Given the description of an element on the screen output the (x, y) to click on. 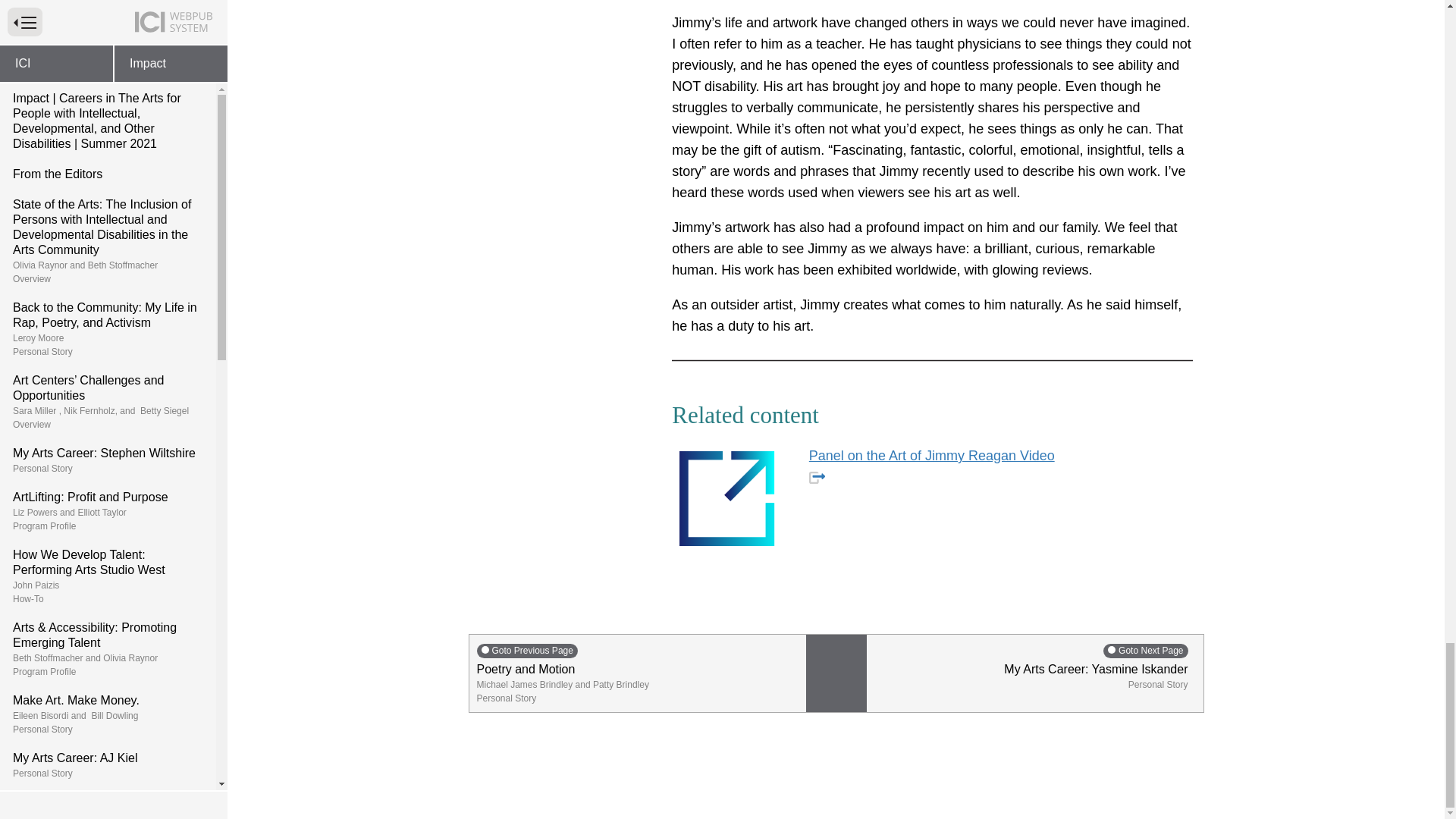
Panel on the Art of Jimmy Reagan Video (931, 465)
Opens an external site or resource (817, 477)
